Given the description of an element on the screen output the (x, y) to click on. 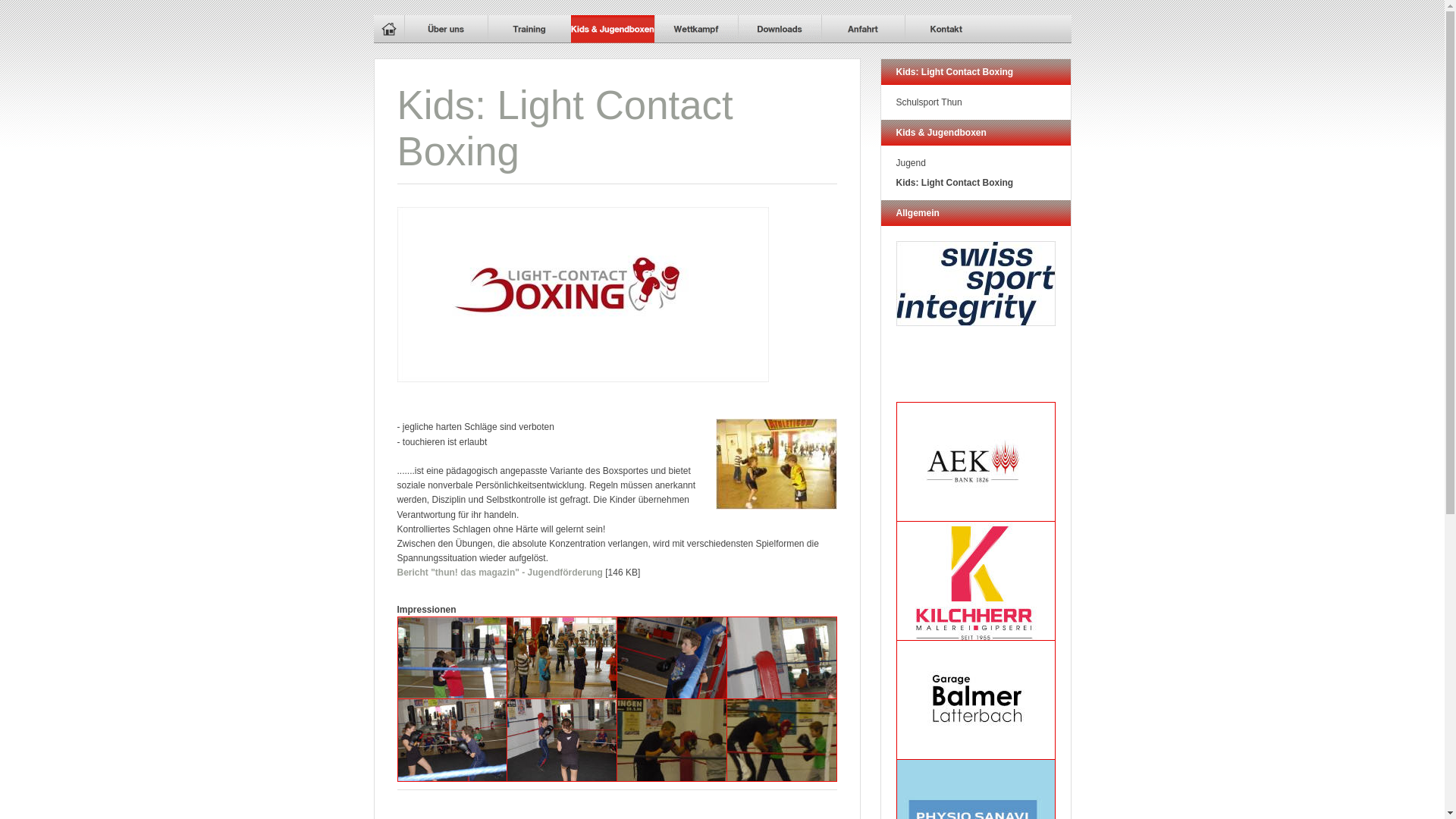
Jugend Element type: text (975, 162)
Schulsport Thun Element type: text (975, 102)
Kids: Light Contact Boxing Element type: text (975, 182)
